Given the description of an element on the screen output the (x, y) to click on. 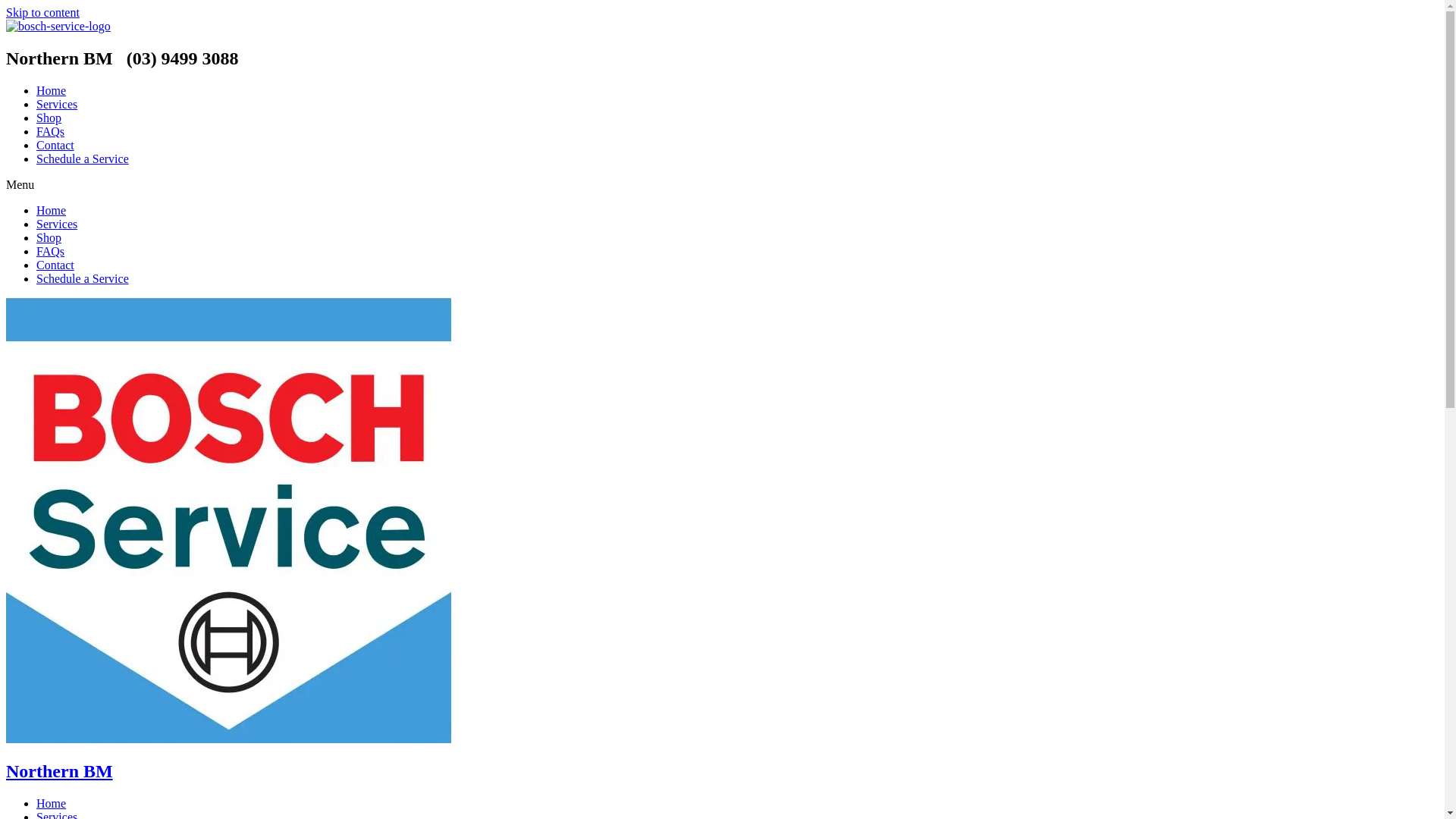
Skip to content Element type: text (42, 12)
Schedule a Service Element type: text (82, 278)
Shop Element type: text (48, 237)
Schedule a Service Element type: text (82, 158)
Home Element type: text (50, 803)
FAQs Element type: text (50, 131)
Home Element type: text (50, 90)
Contact Element type: text (55, 144)
Contact Element type: text (55, 264)
FAQs Element type: text (50, 250)
Services Element type: text (56, 103)
Home Element type: text (50, 209)
Services Element type: text (56, 223)
Shop Element type: text (48, 117)
Northern BM Element type: text (59, 771)
